Given the description of an element on the screen output the (x, y) to click on. 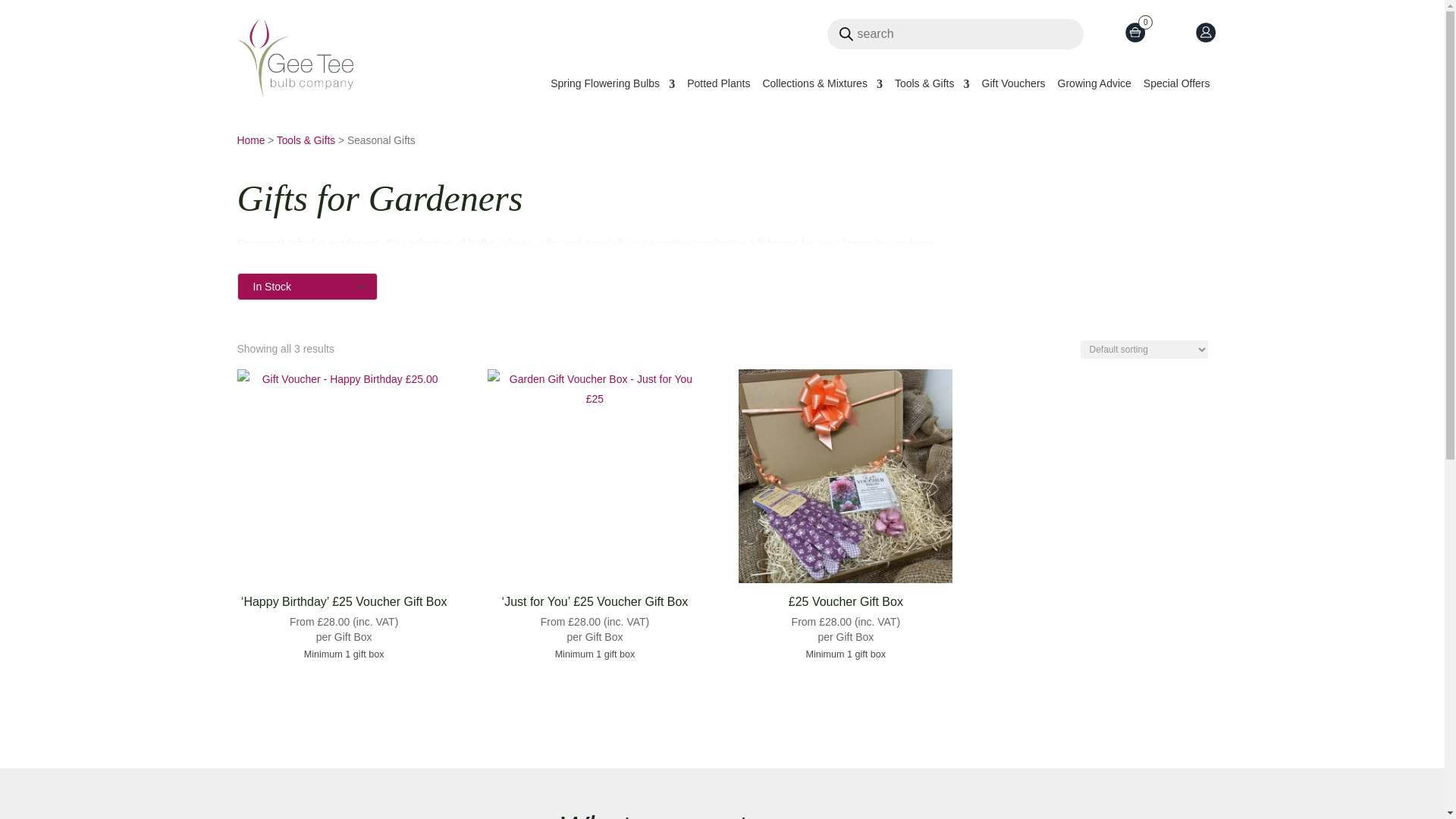
login-dkblue (1204, 32)
gee-tee-bulbs-logo (294, 57)
Spring Flowering Bulbs (612, 86)
Potted Plants (718, 86)
